Given the description of an element on the screen output the (x, y) to click on. 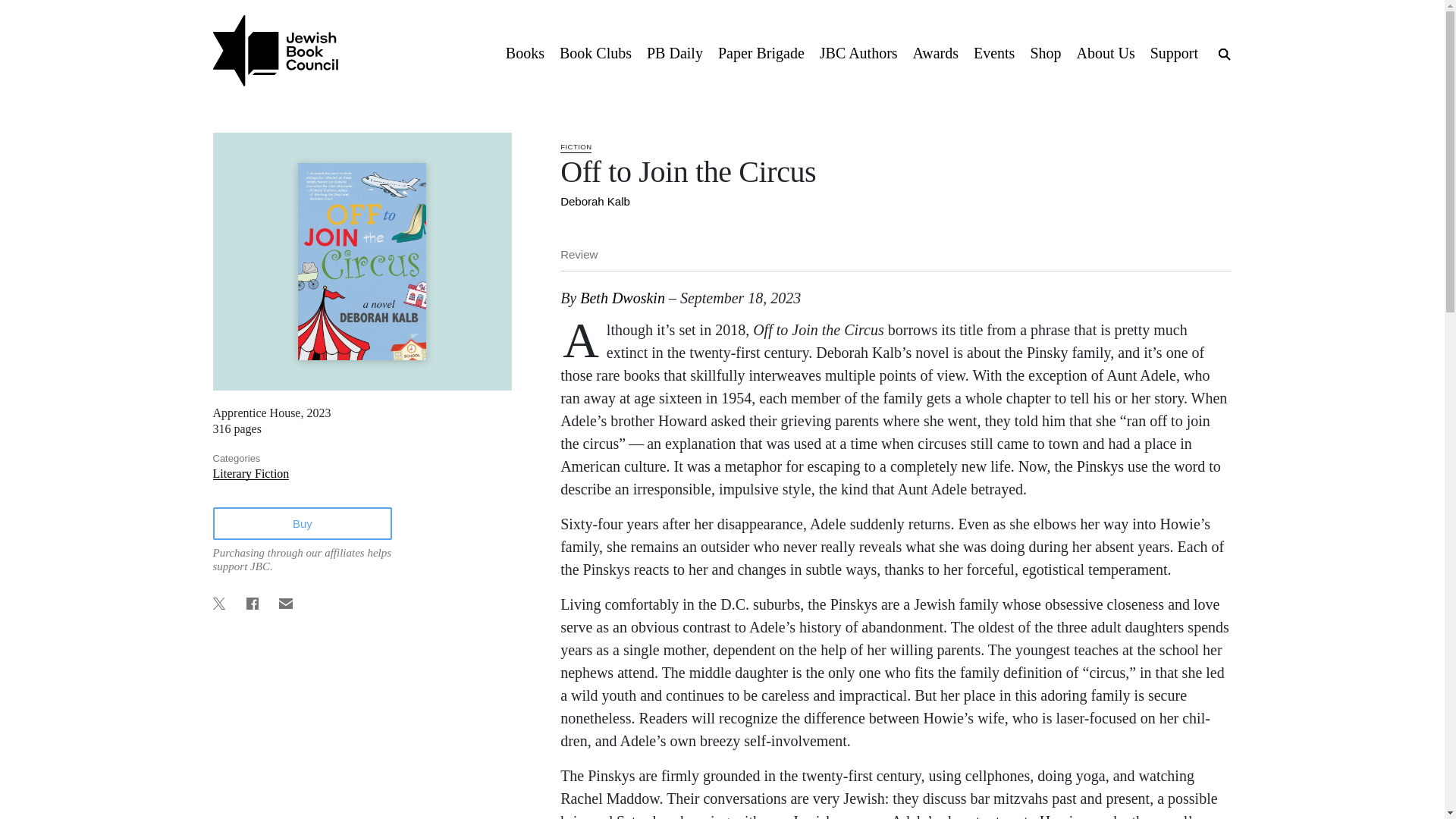
Paper Brigade (761, 52)
Awards (935, 52)
Books (524, 52)
PB Daily (674, 52)
Book Clubs (595, 52)
JBC Authors (858, 52)
